Given the description of an element on the screen output the (x, y) to click on. 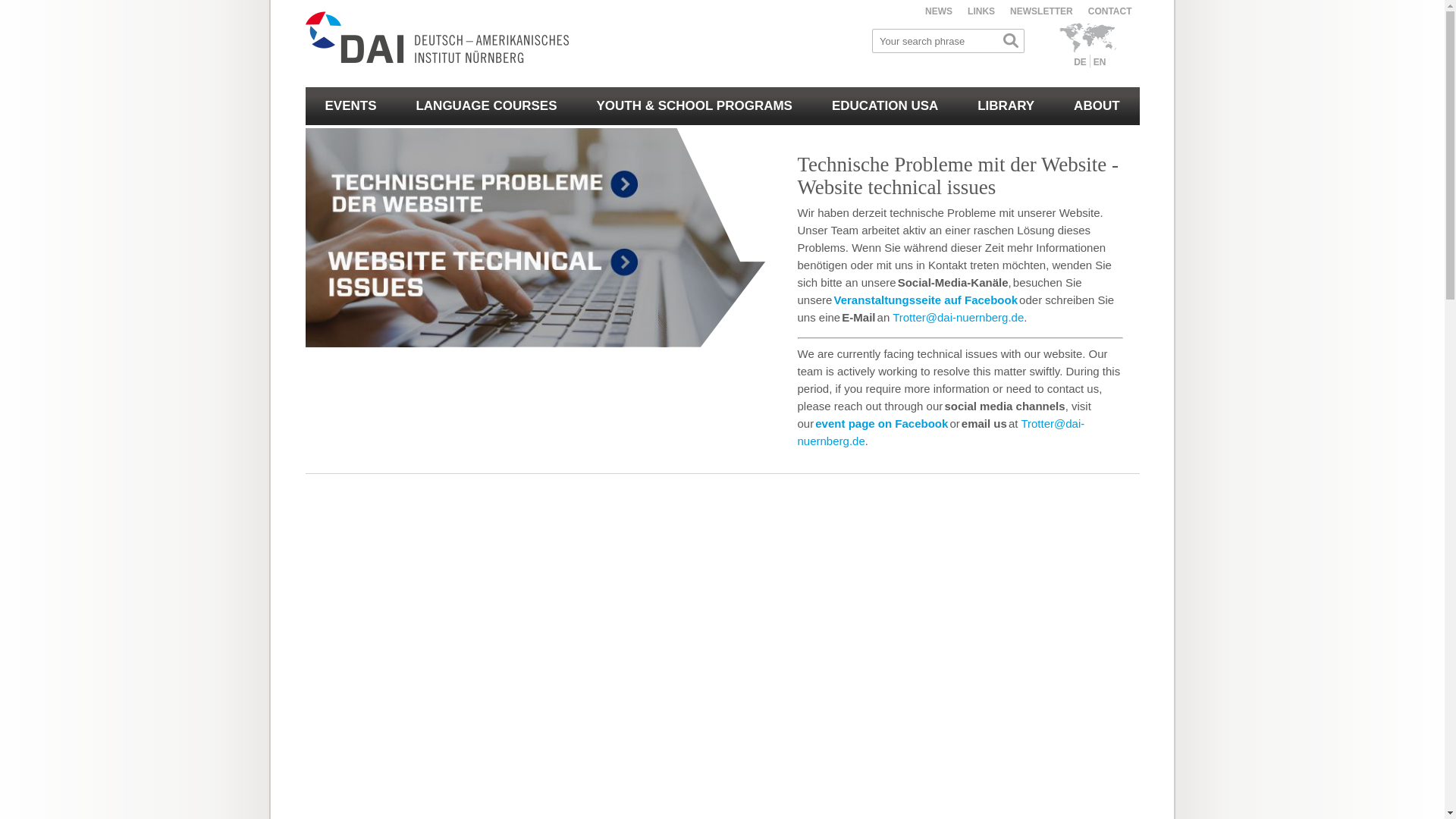
LANGUAGE COURSES (486, 105)
LINKS (981, 10)
EN (1099, 61)
EVENTS (350, 105)
DE (1080, 61)
LIBRARY (1006, 105)
CONTACT (1109, 10)
NEWS (938, 10)
NEWSLETTER (1041, 10)
EDUCATION USA (885, 105)
